Given the description of an element on the screen output the (x, y) to click on. 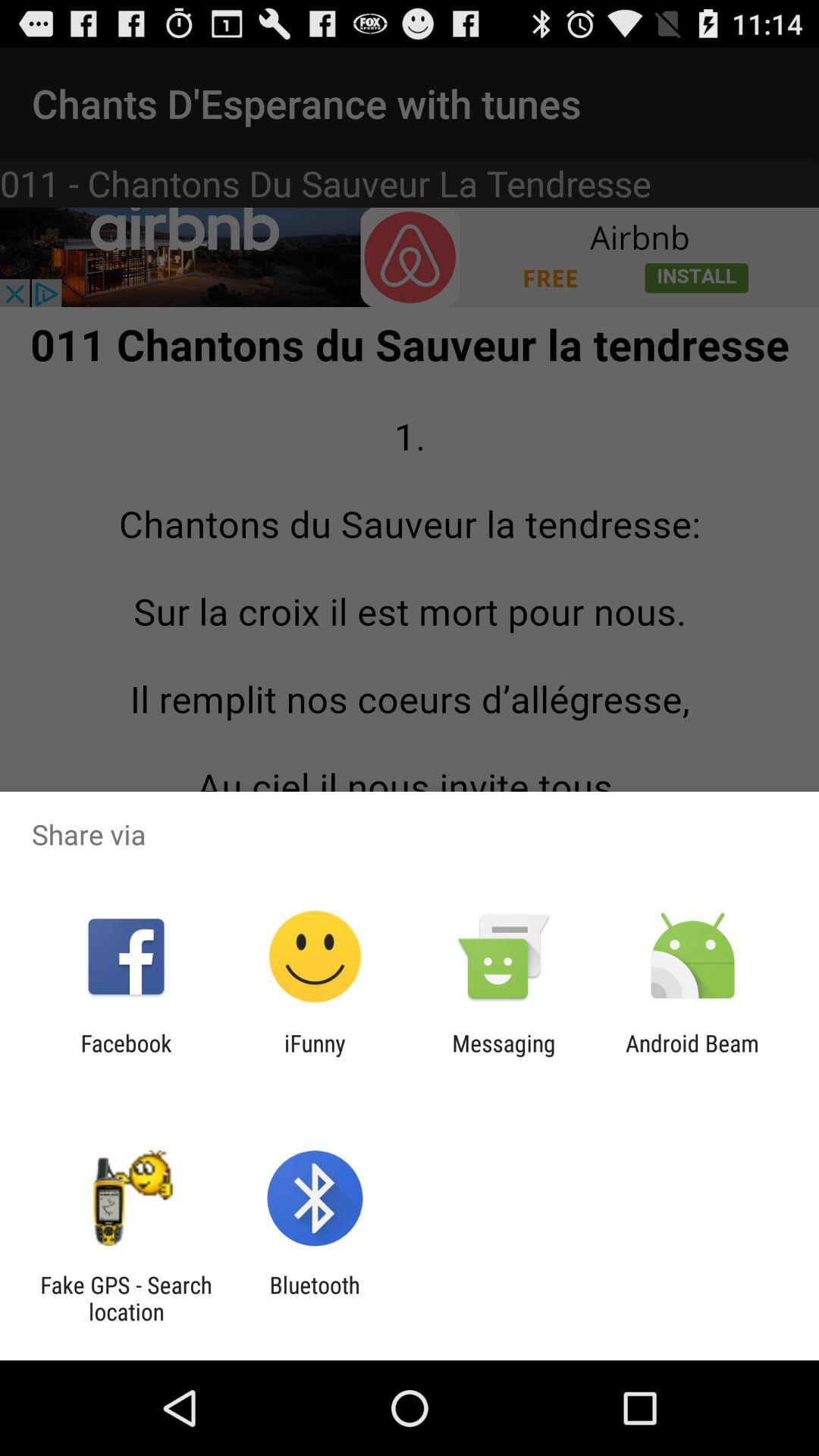
open android beam icon (692, 1056)
